Given the description of an element on the screen output the (x, y) to click on. 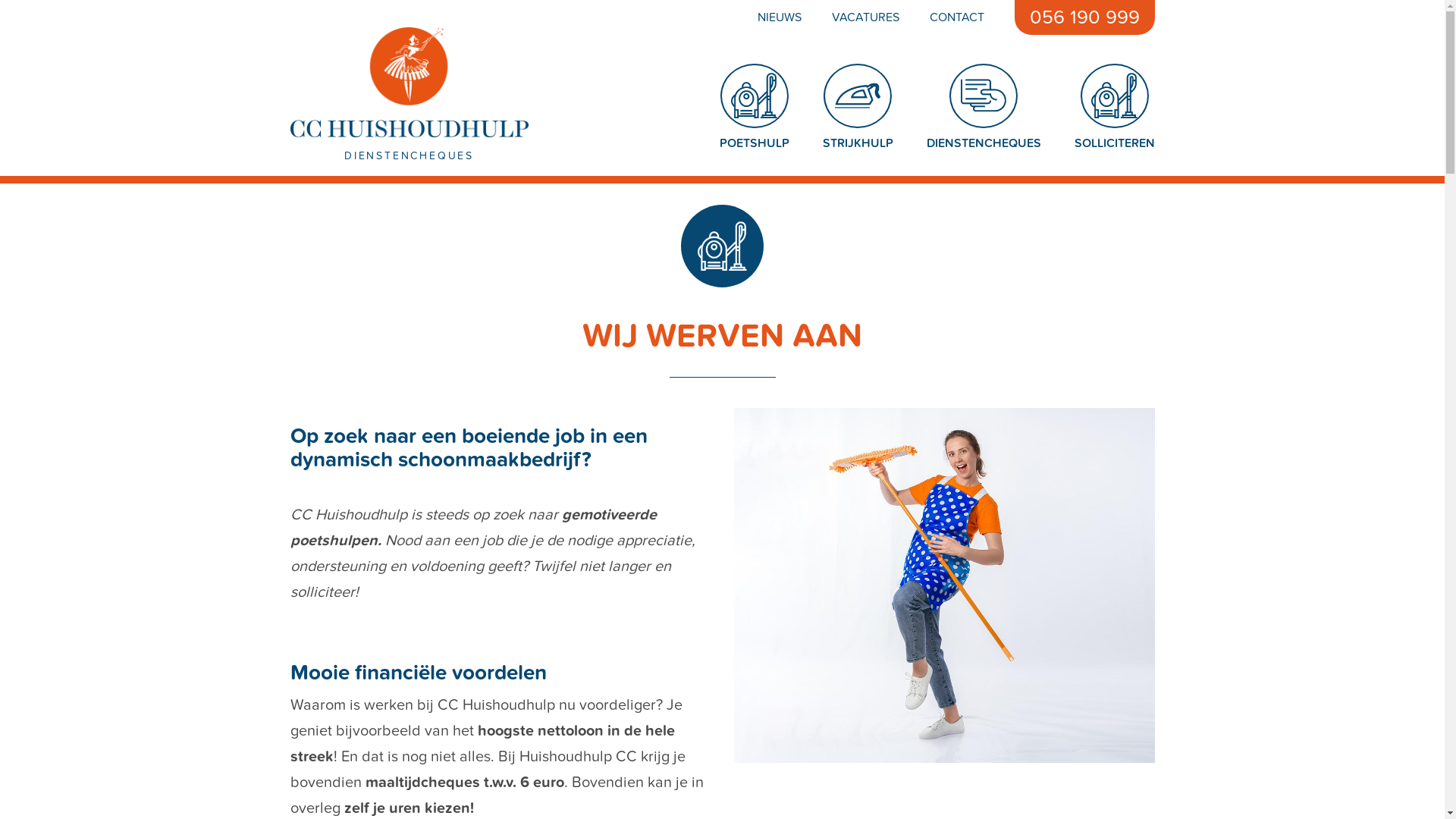
056 190 999 Element type: text (1084, 17)
CC Huishoudhulp: Poetshulp Element type: hover (754, 95)
DIENSTENCHEQUES Element type: text (414, 94)
SOLLICITEREN Element type: text (1113, 142)
CC Huishoudhulp: Dienstencheques Element type: hover (983, 95)
CONTACT Element type: text (941, 17)
NIEUWS Element type: text (763, 17)
Overslaan en naar de inhoud gaan Element type: text (0, 0)
Job schoonmaak Element type: hover (1113, 95)
STRIJKHULP Element type: text (857, 142)
CC Huishoudhulp: Strijkatelier Element type: hover (857, 95)
VACATURES Element type: text (849, 17)
DIENSTENCHEQUES Element type: text (983, 142)
POETSHULP Element type: text (753, 142)
